Given the description of an element on the screen output the (x, y) to click on. 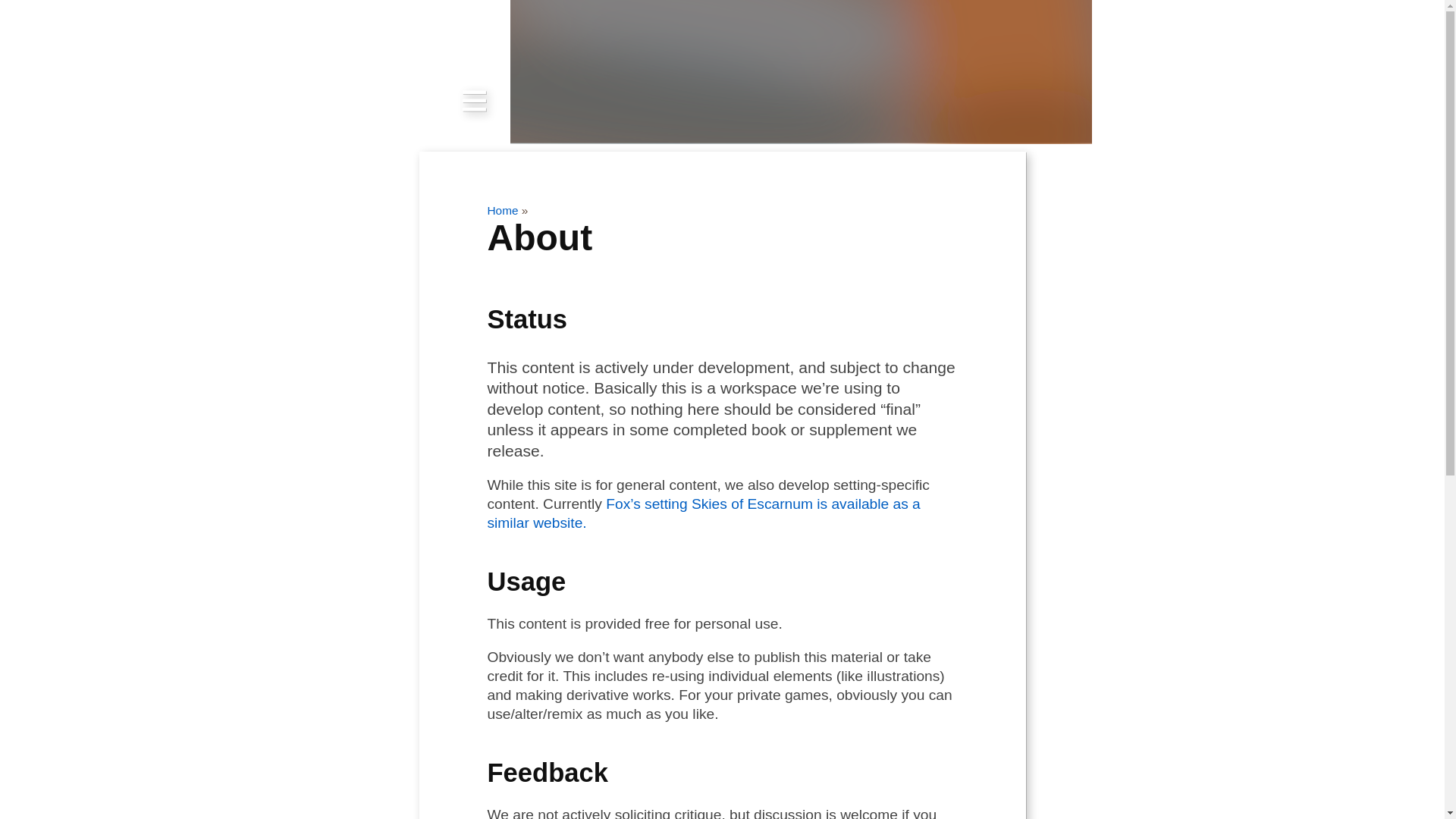
Home (502, 210)
